Given the description of an element on the screen output the (x, y) to click on. 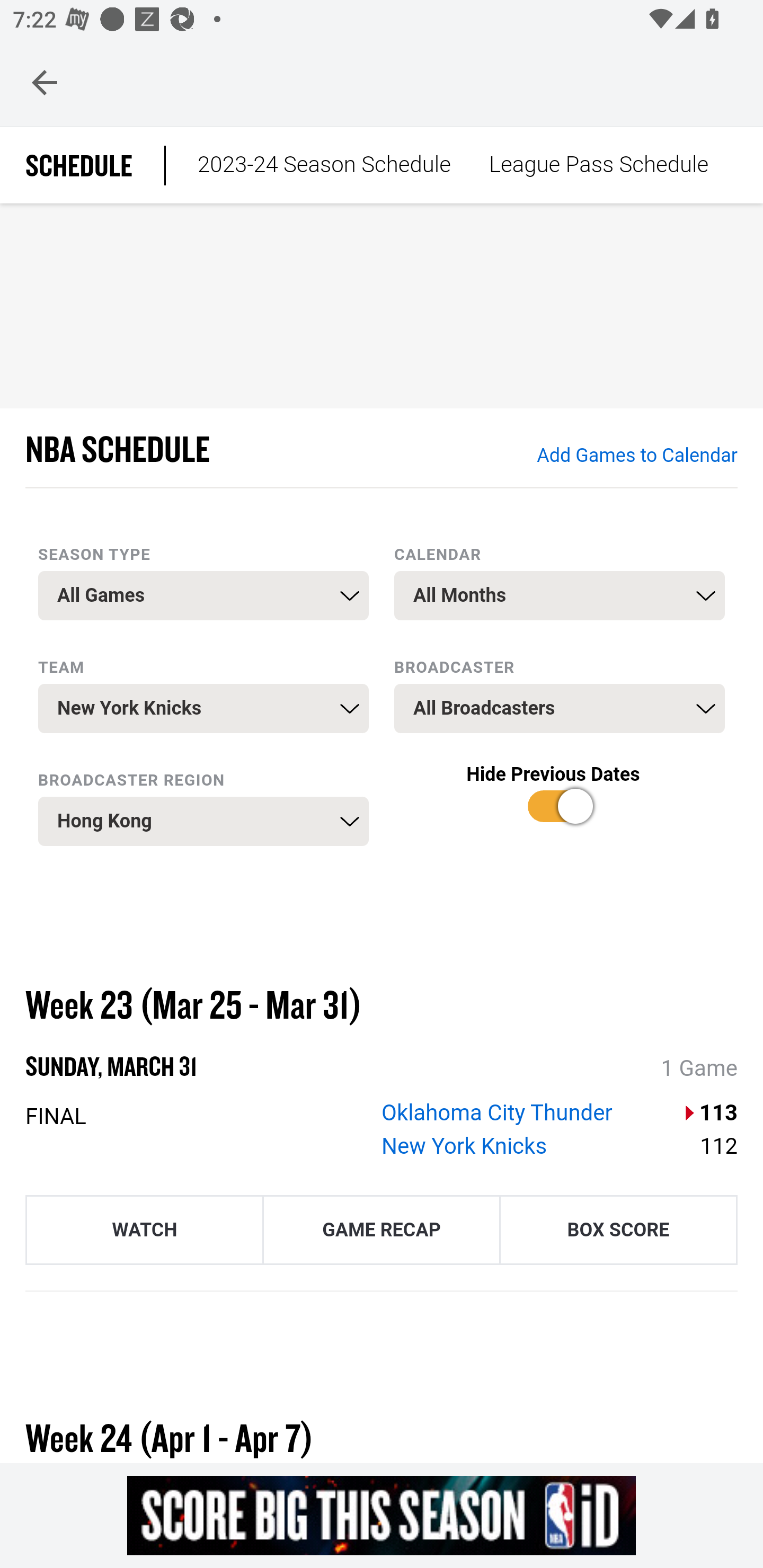
Navigate up (44, 82)
2023-24 Season Schedule (323, 165)
League Pass Schedule (598, 165)
Add Games to Calendar (636, 455)
All Games (203, 595)
All Months (559, 595)
New York Knicks (203, 708)
All Broadcasters (559, 708)
Hong Kong (203, 821)
Oklahoma City Thunder (497, 1112)
New York Knicks (464, 1145)
WATCH (144, 1228)
GAME RECAP (381, 1228)
BOX SCORE (618, 1228)
g5nqqygr7owph (381, 1515)
